Given the description of an element on the screen output the (x, y) to click on. 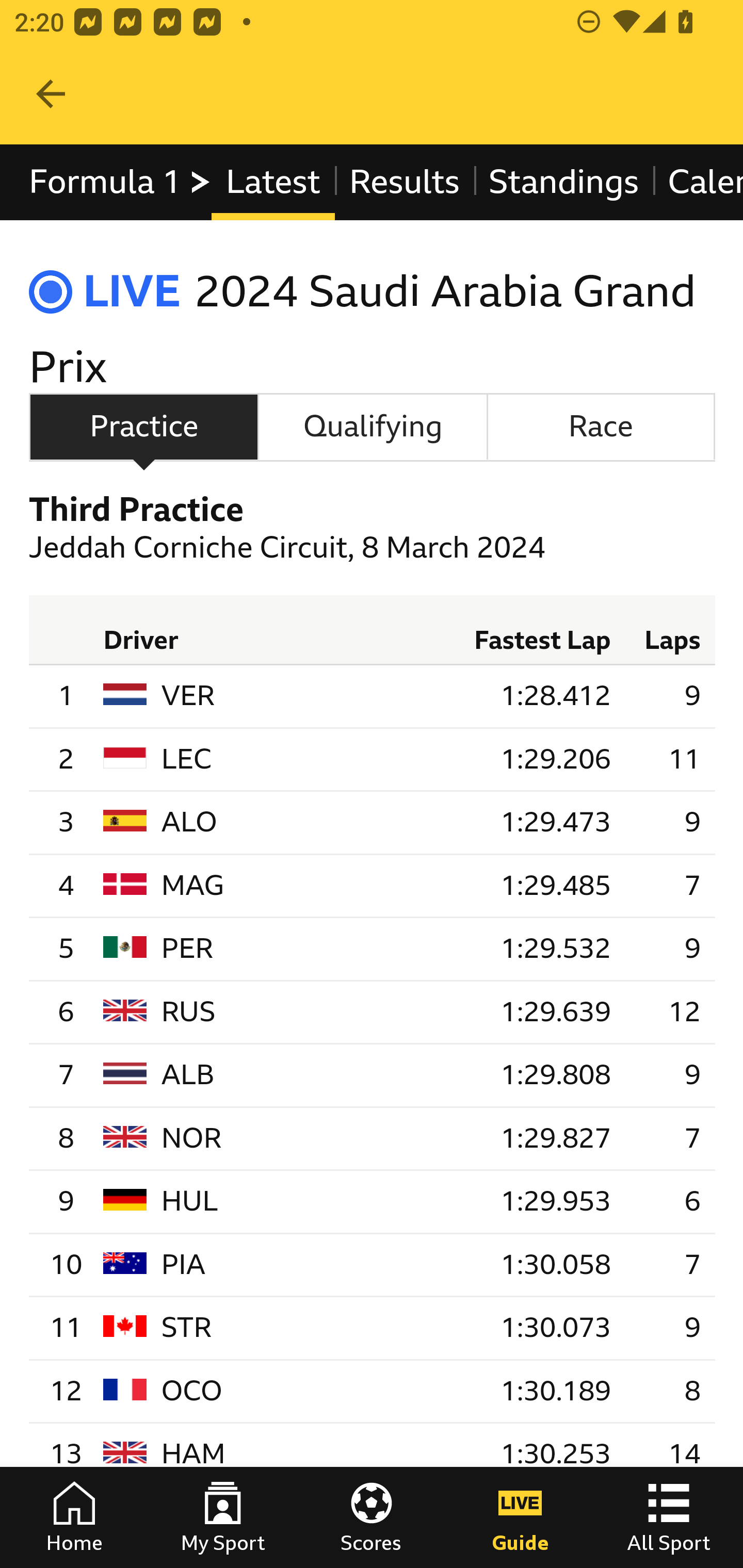
Navigate up (50, 93)
Formula 1  (120, 181)
Latest (272, 181)
Results (403, 181)
Standings (564, 181)
Practice (142, 426)
Qualifying (372, 426)
Race (600, 426)
Home (74, 1517)
My Sport (222, 1517)
Scores (371, 1517)
All Sport (668, 1517)
